Given the description of an element on the screen output the (x, y) to click on. 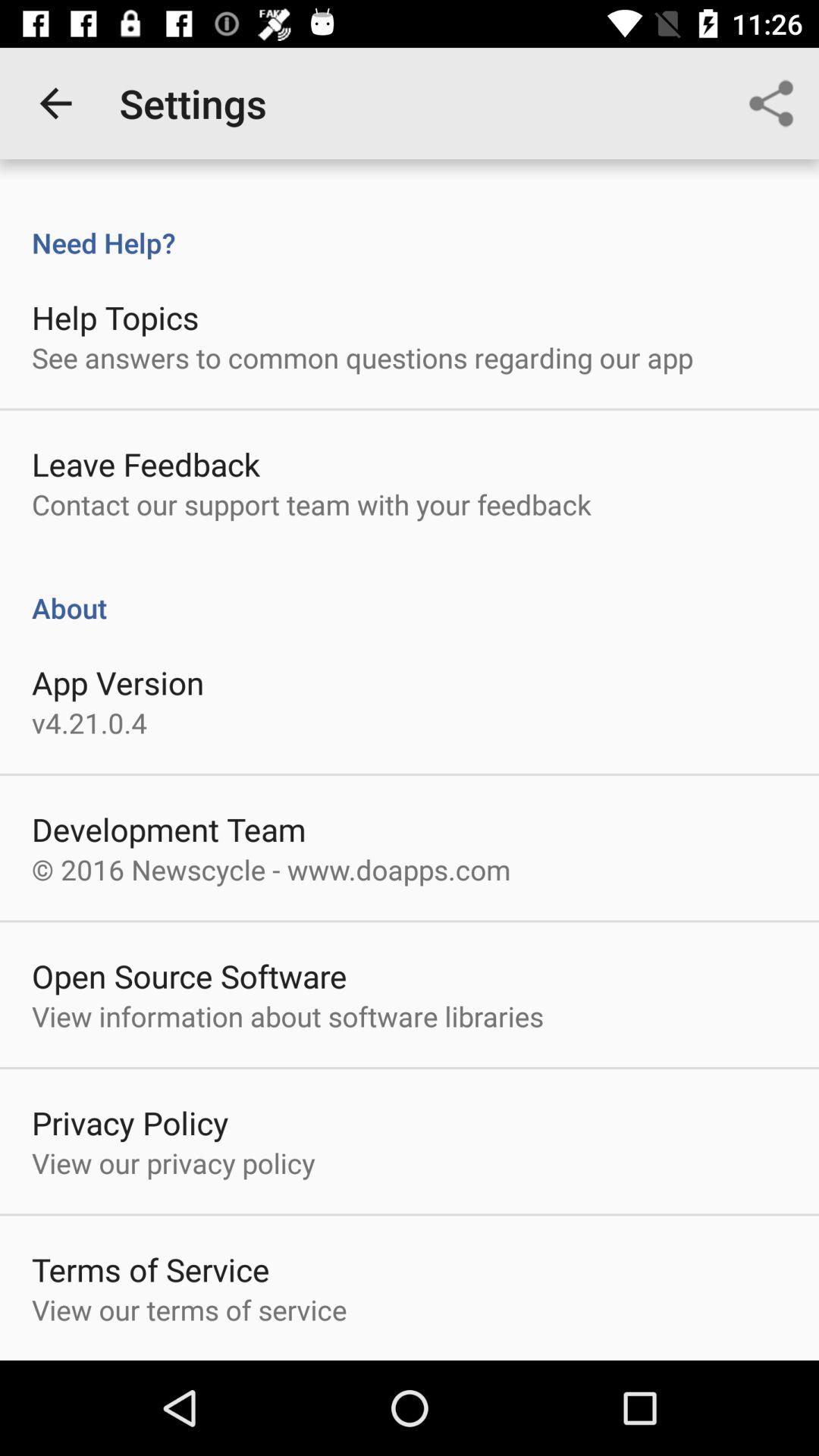
turn off the item above the contact our support item (145, 463)
